Given the description of an element on the screen output the (x, y) to click on. 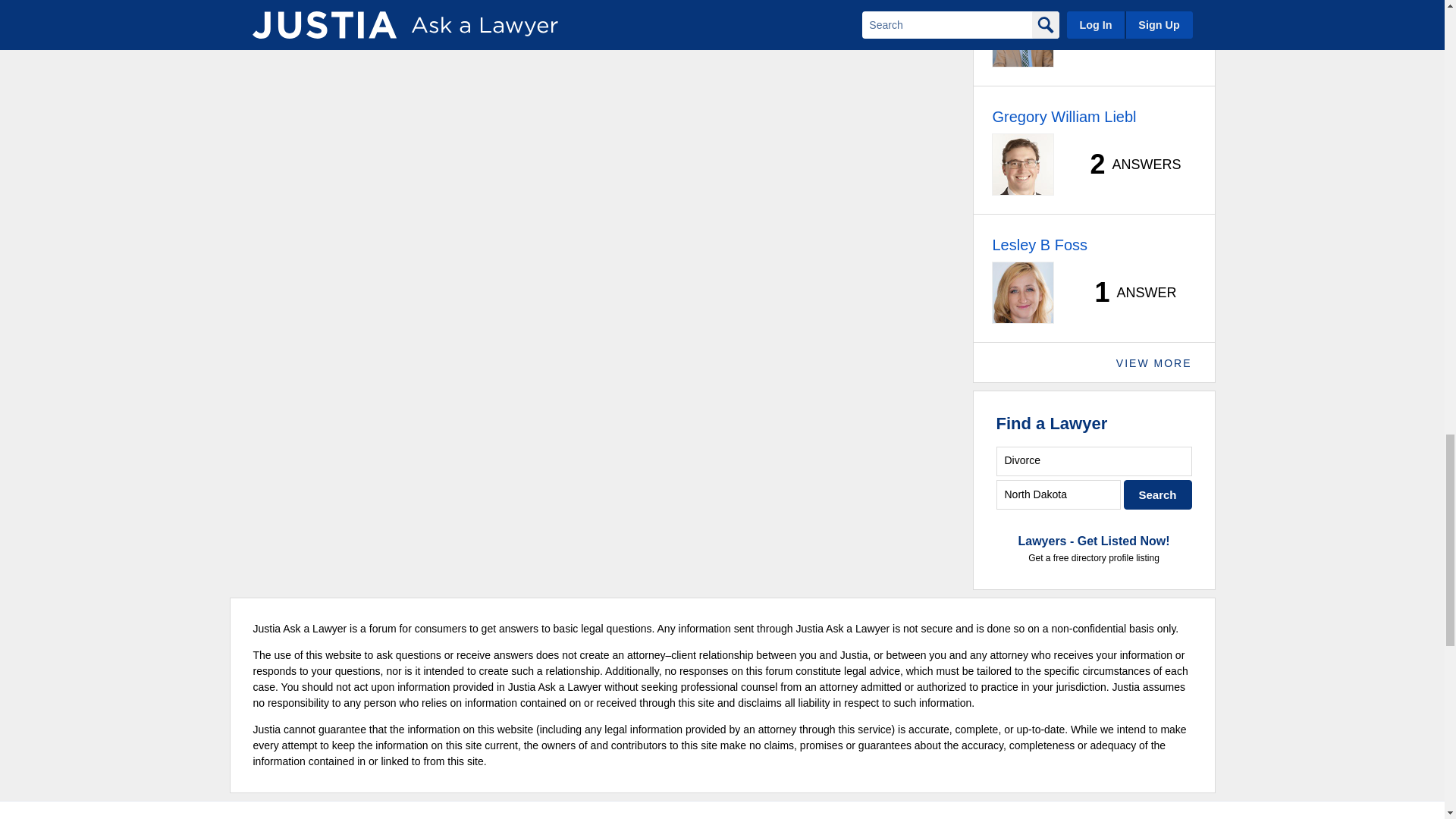
Ask a Lawyer - Leaderboard - Lawyer Stats (1127, 35)
Ask a Lawyer - Leaderboard - Lawyer Photo (1021, 164)
Ask a Lawyer - Leaderboard - Lawyer Photo (1021, 35)
North Dakota (1058, 494)
Search (1158, 494)
Search (1158, 494)
Divorce (1093, 460)
Ask a Lawyer - Leaderboard - Lawyer Name (1063, 116)
